Given the description of an element on the screen output the (x, y) to click on. 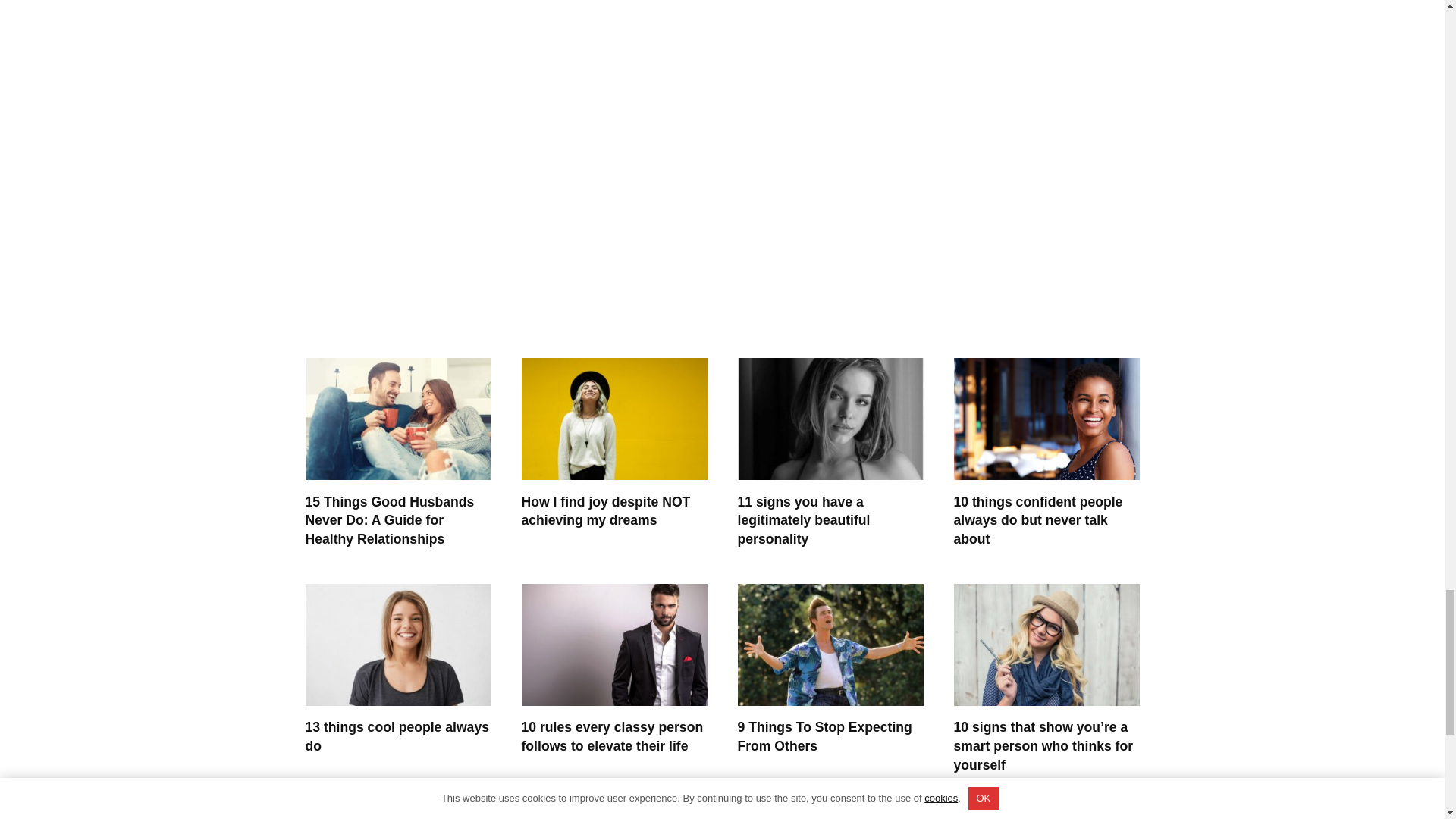
How I find joy despite NOT achieving my dreams (605, 511)
11 signs you have a legitimately beautiful personality (802, 520)
